Given the description of an element on the screen output the (x, y) to click on. 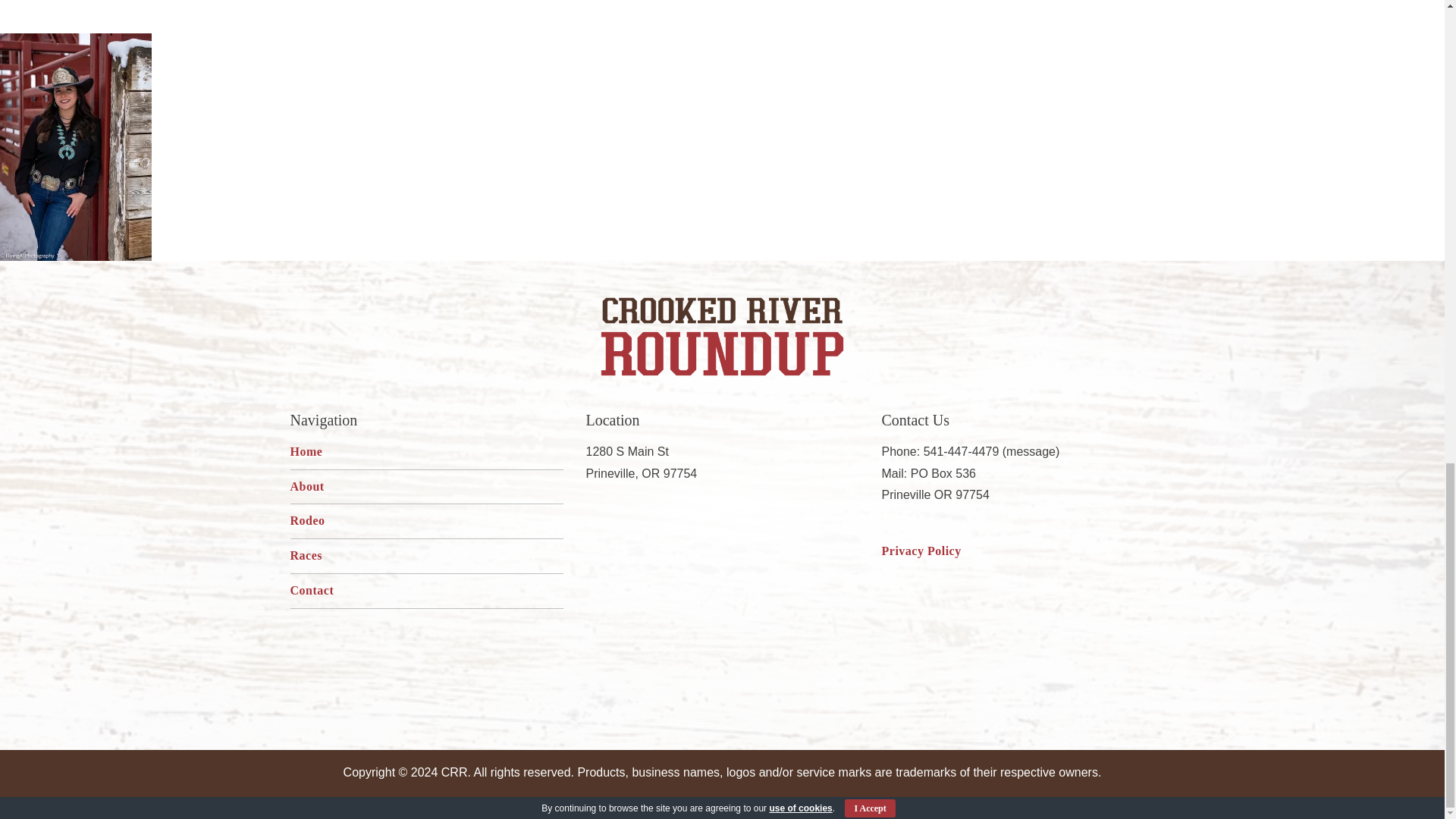
Crooked River Roundup Home (721, 336)
